Given the description of an element on the screen output the (x, y) to click on. 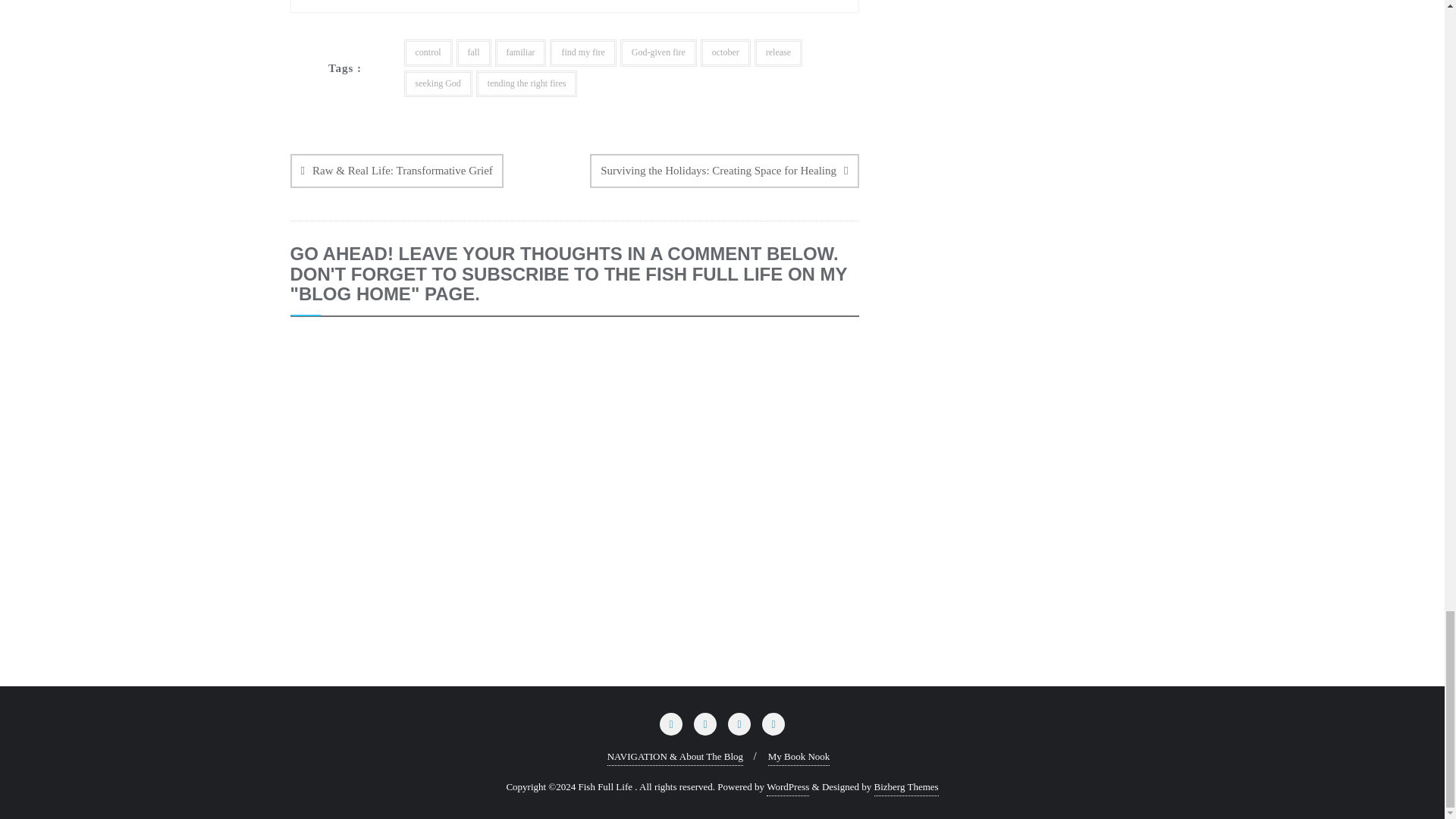
tending the right fires (527, 83)
Surviving the Holidays: Creating Space for Healing (724, 170)
find my fire (582, 52)
control (427, 52)
fall (474, 52)
october (725, 52)
seeking God (437, 83)
release (778, 52)
familiar (520, 52)
God-given fire (658, 52)
